Given the description of an element on the screen output the (x, y) to click on. 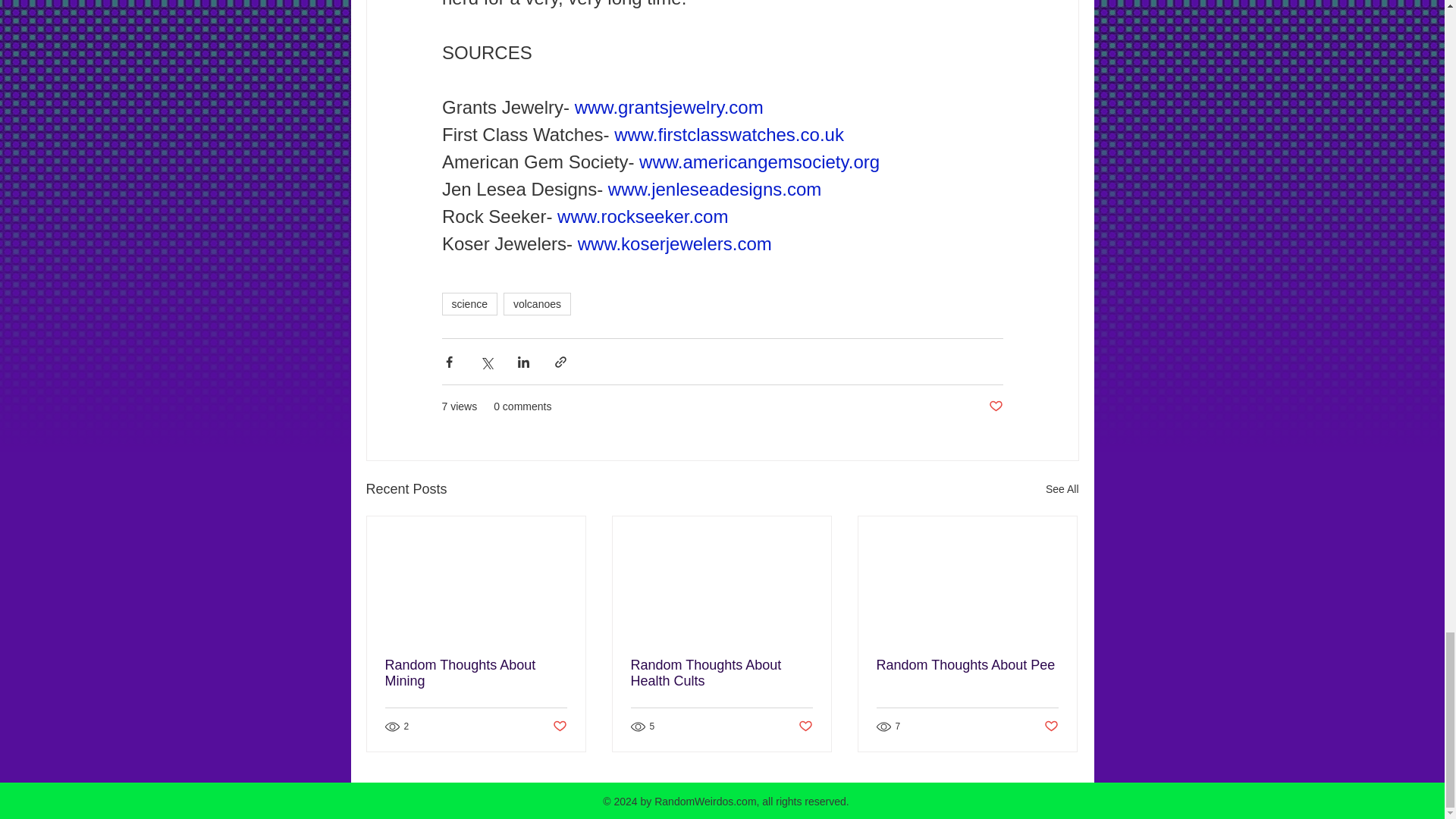
volcanoes (536, 303)
See All (1061, 489)
science (468, 303)
Post not marked as liked (1050, 726)
www.rockseeker.com (642, 216)
Post not marked as liked (804, 726)
www.firstclasswatches.co.uk (729, 134)
www.koserjewelers.com (673, 243)
Post not marked as liked (558, 726)
Random Thoughts About Pee (967, 665)
